Given the description of an element on the screen output the (x, y) to click on. 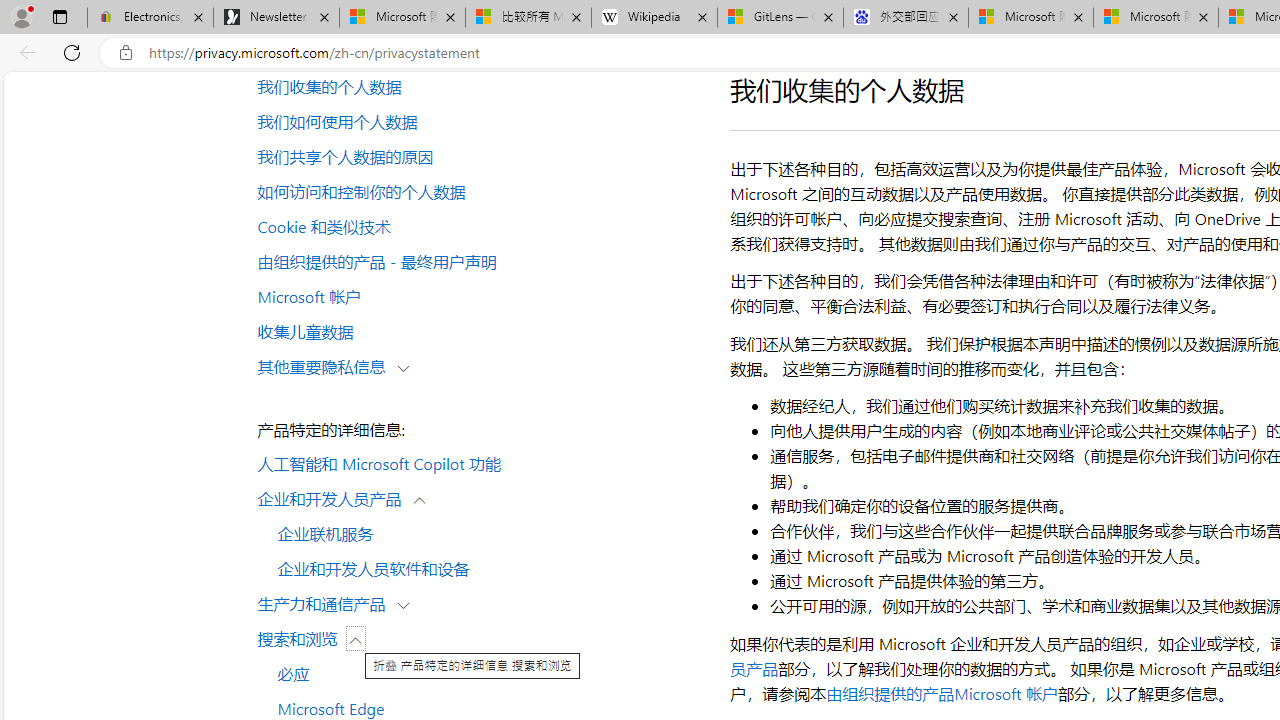
Newsletter Sign Up (276, 17)
